Given the description of an element on the screen output the (x, y) to click on. 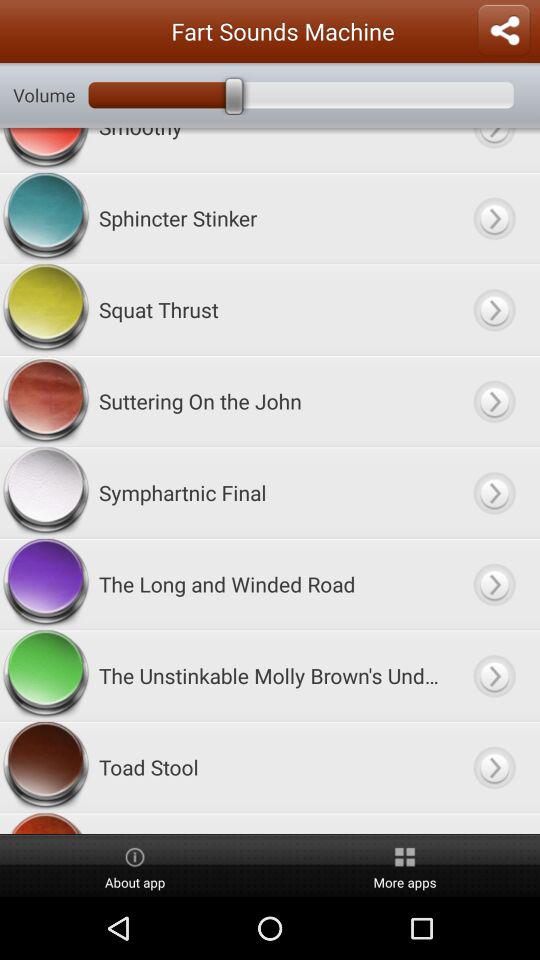
open smoothy (494, 149)
